Given the description of an element on the screen output the (x, y) to click on. 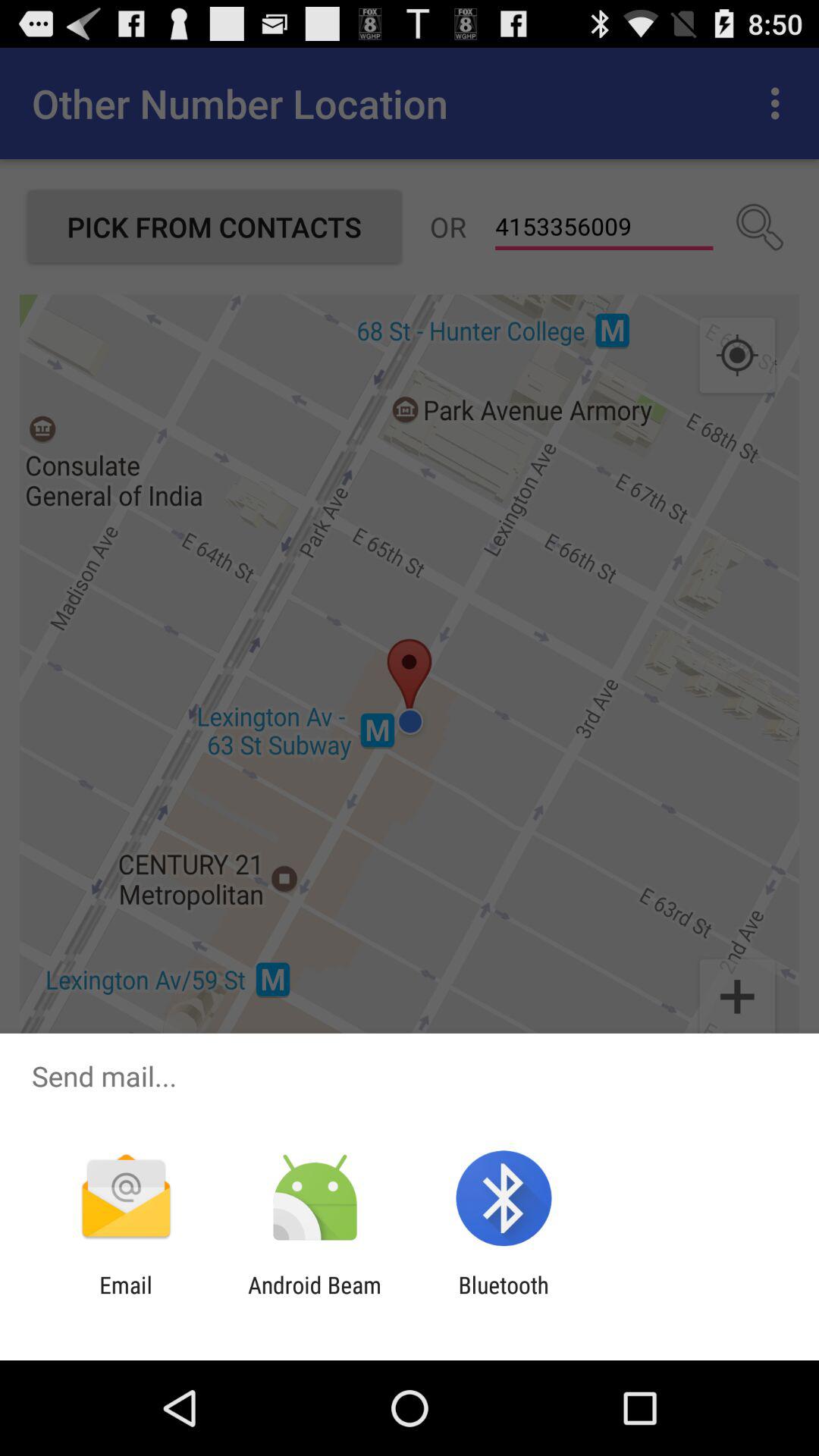
tap the item next to email (314, 1298)
